Given the description of an element on the screen output the (x, y) to click on. 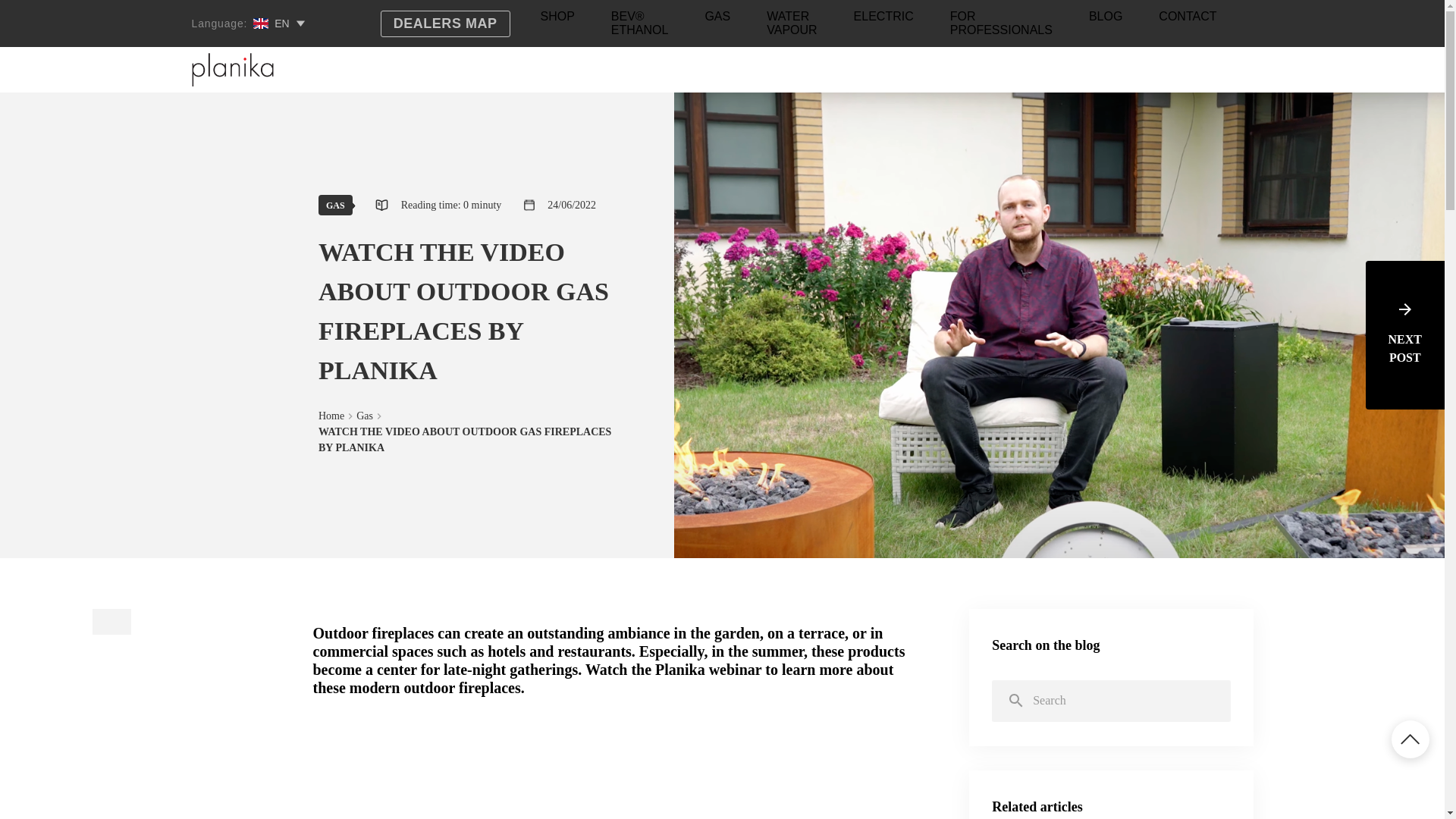
CONTACT (1186, 20)
FOR PROFESSIONALS (1001, 27)
SHOP (556, 20)
GAS (717, 20)
Home (330, 415)
BLOG (1105, 20)
GAS (335, 204)
DEALERS MAP (445, 23)
EN (275, 23)
Gas (364, 415)
ELECTRIC (883, 20)
WATER VAPOUR (791, 27)
